Given the description of an element on the screen output the (x, y) to click on. 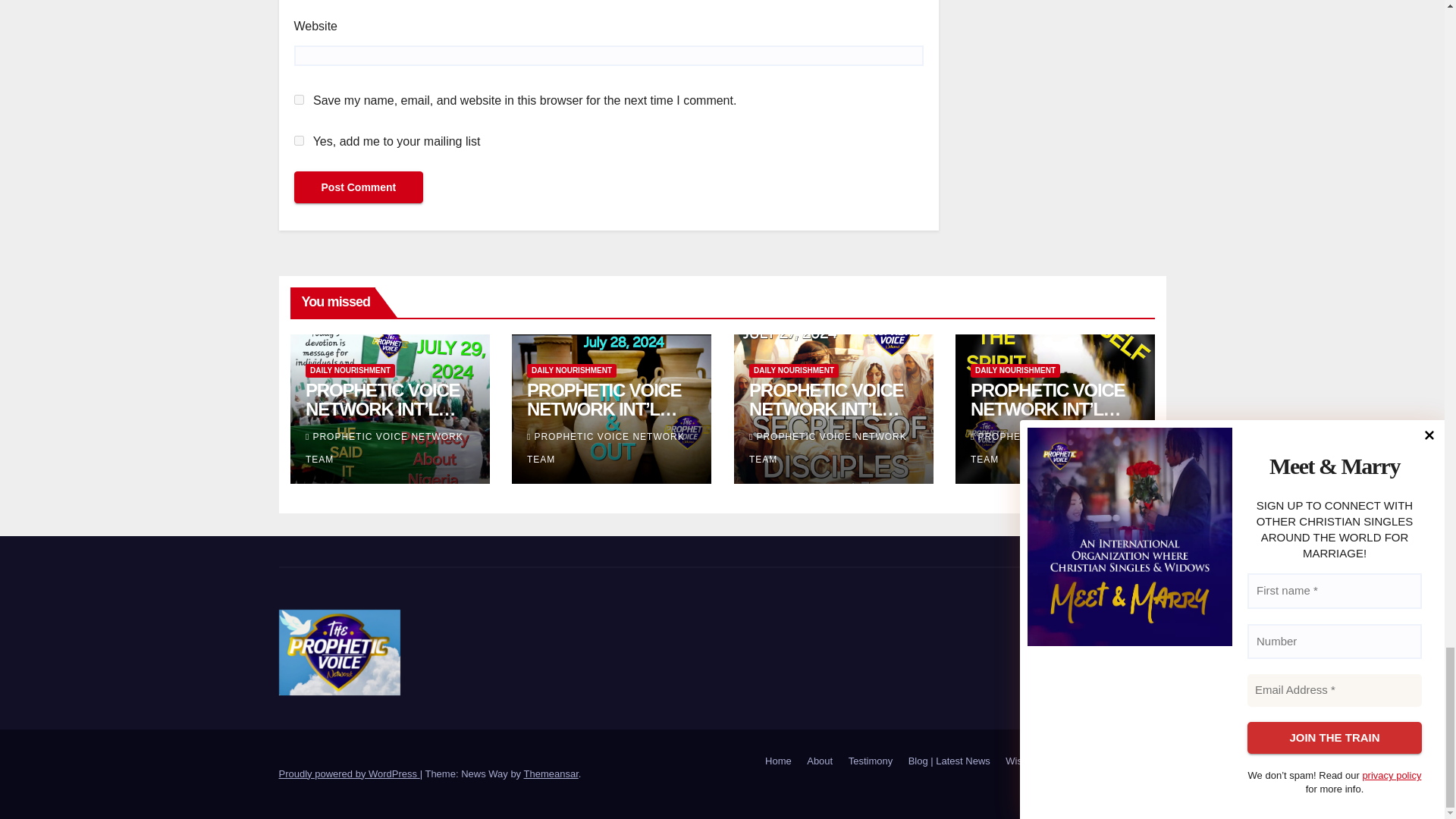
Post Comment (358, 186)
1 (299, 140)
yes (299, 99)
